Given the description of an element on the screen output the (x, y) to click on. 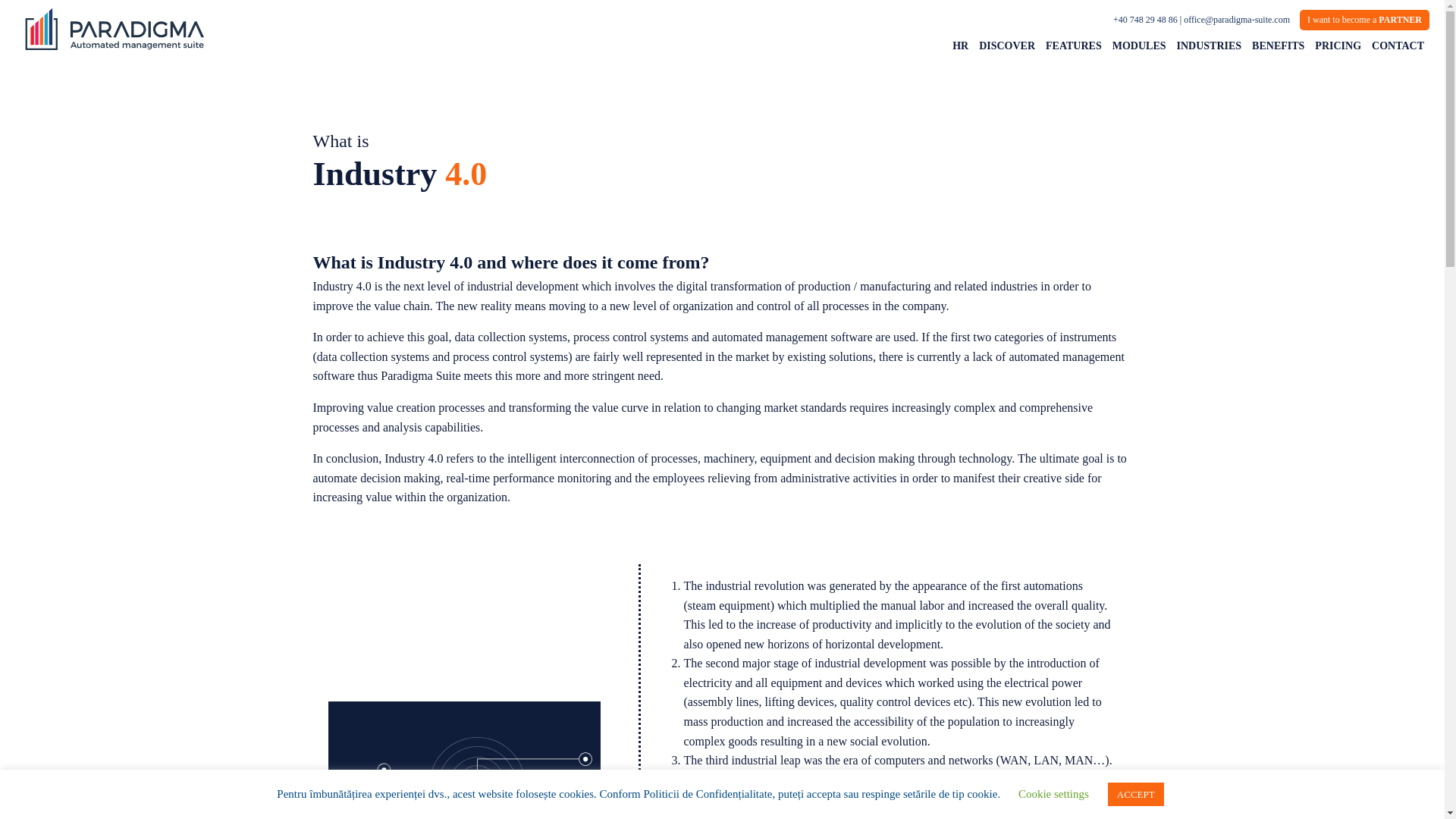
CONTACT (1398, 46)
INDUSTRIES (1209, 46)
MODULES (1139, 46)
HR (960, 46)
I want to become a PARTNER (1364, 19)
DISCOVER (1007, 46)
FEATURES (1073, 46)
BENEFITS (1277, 46)
PRICING (1338, 46)
Cookie settings (1053, 793)
